Given the description of an element on the screen output the (x, y) to click on. 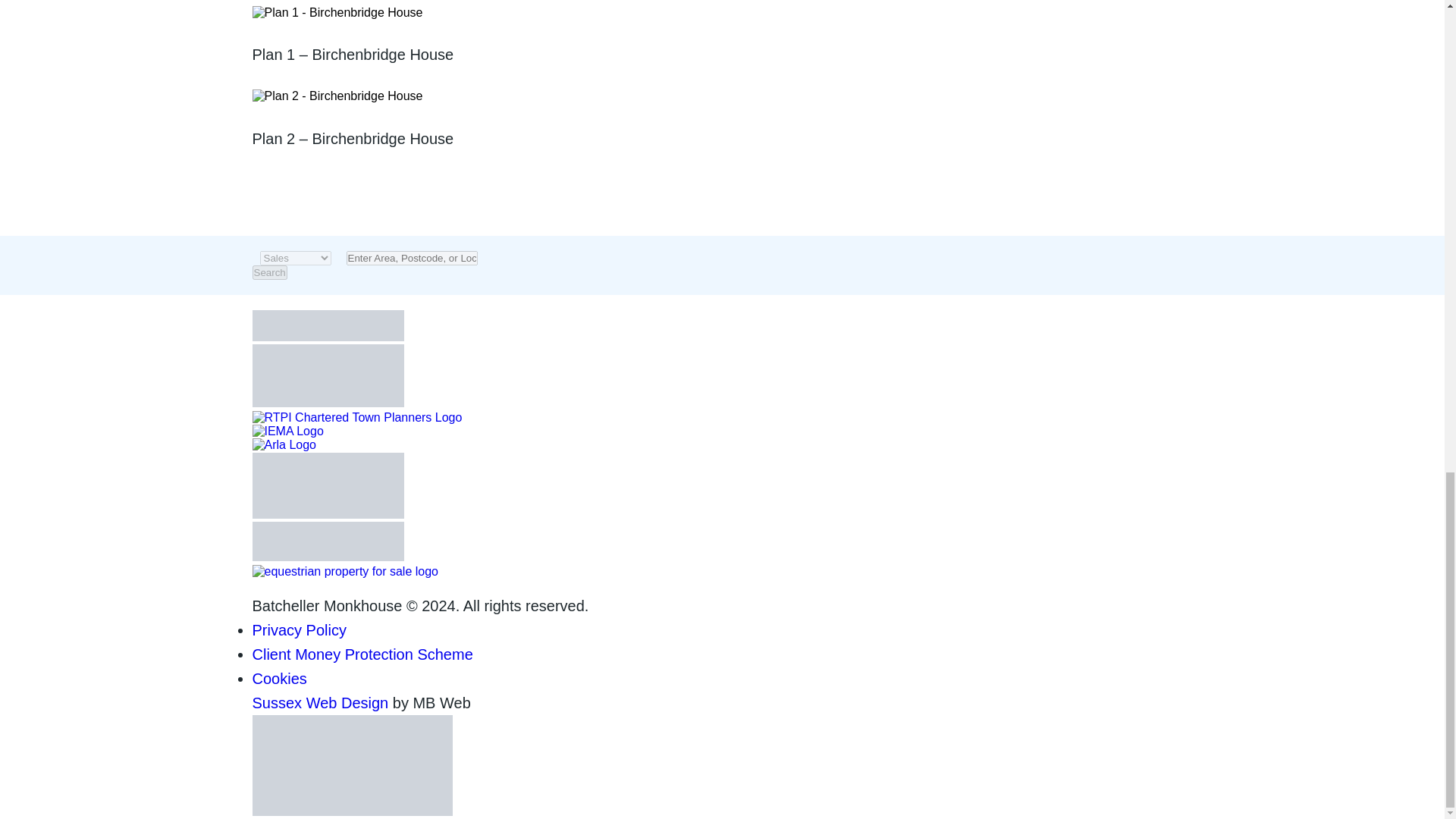
Search (268, 272)
